Given the description of an element on the screen output the (x, y) to click on. 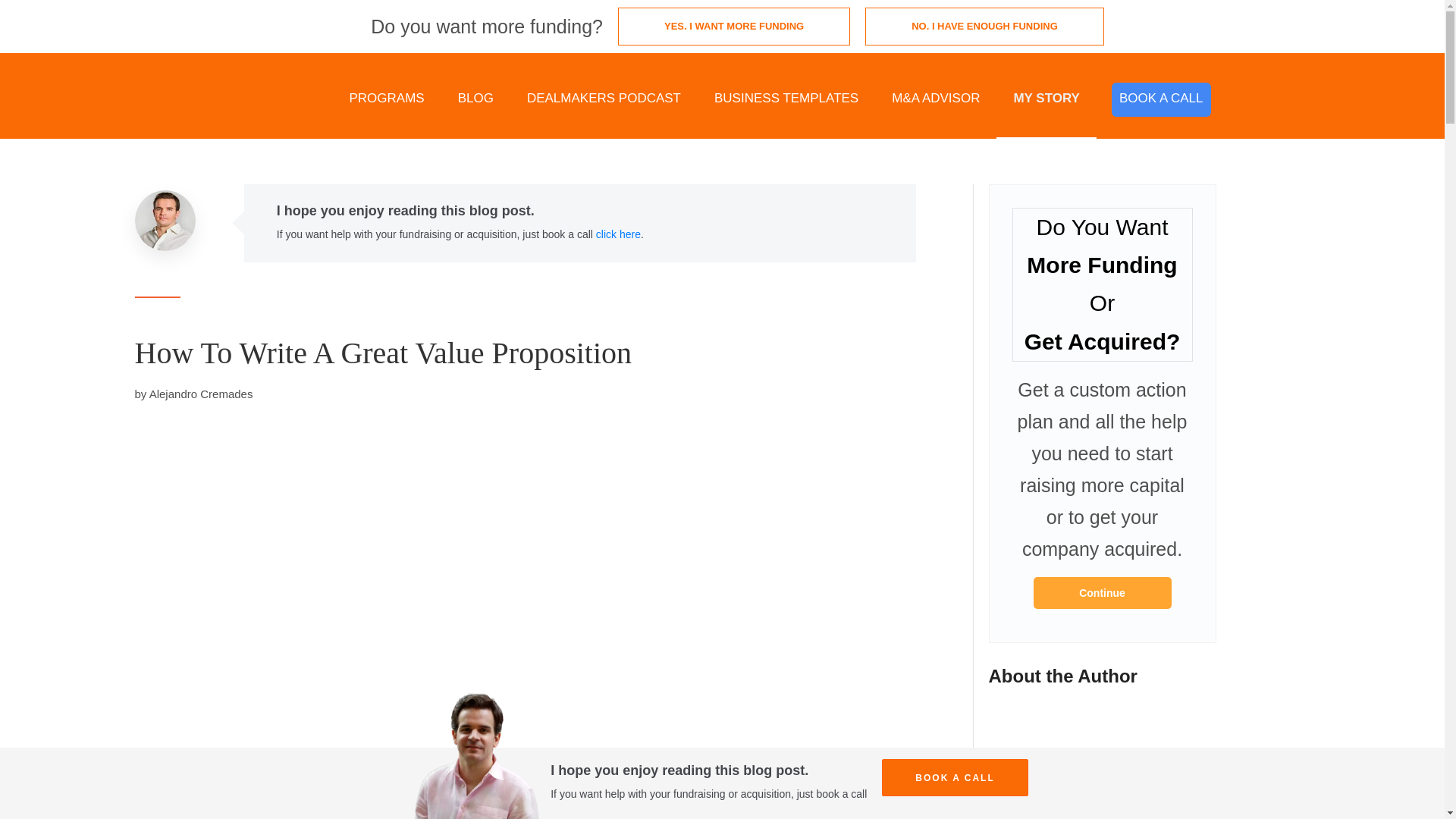
Posts by Alejandro Cremades (201, 393)
DEALMAKERS PODCAST (604, 99)
PROGRAMS (386, 99)
YES. I WANT MORE FUNDING (733, 26)
click here (617, 234)
Alejandro Cremades (201, 393)
BUSINESS TEMPLATES (786, 99)
MY STORY (1045, 99)
NO. I HAVE ENOUGH FUNDING (983, 26)
Art of Startup Fundraising (1101, 593)
BOOK A CALL (1161, 99)
BLOG (476, 99)
